Given the description of an element on the screen output the (x, y) to click on. 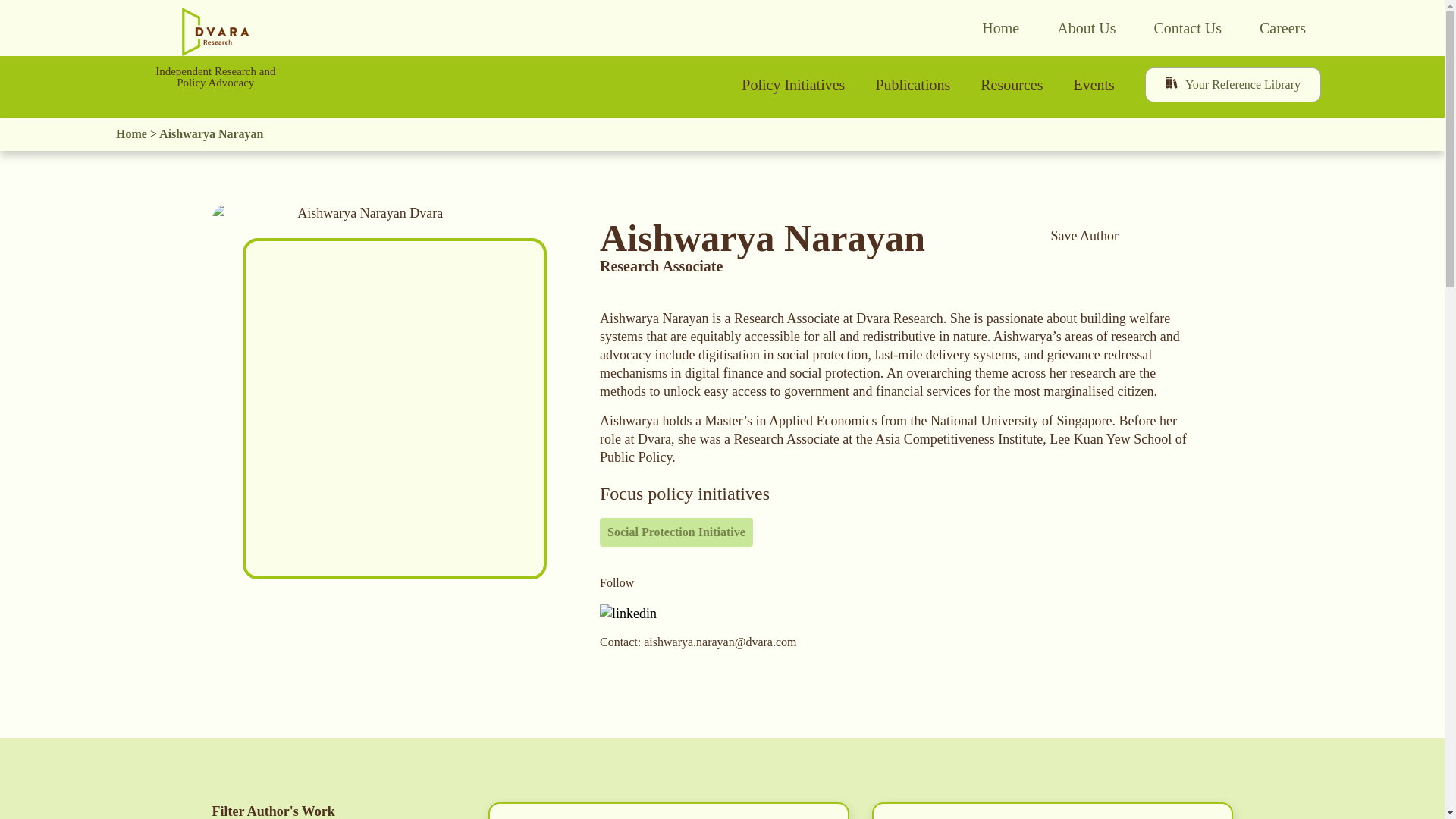
Independent Research and Policy Advocacy (215, 76)
Contact Us (1187, 27)
Policy Initiatives (793, 84)
About Us (1086, 27)
Resources (1011, 84)
Events (1093, 84)
Careers (1282, 27)
Your Reference Library (1232, 84)
Publications (912, 84)
Home (999, 27)
